Given the description of an element on the screen output the (x, y) to click on. 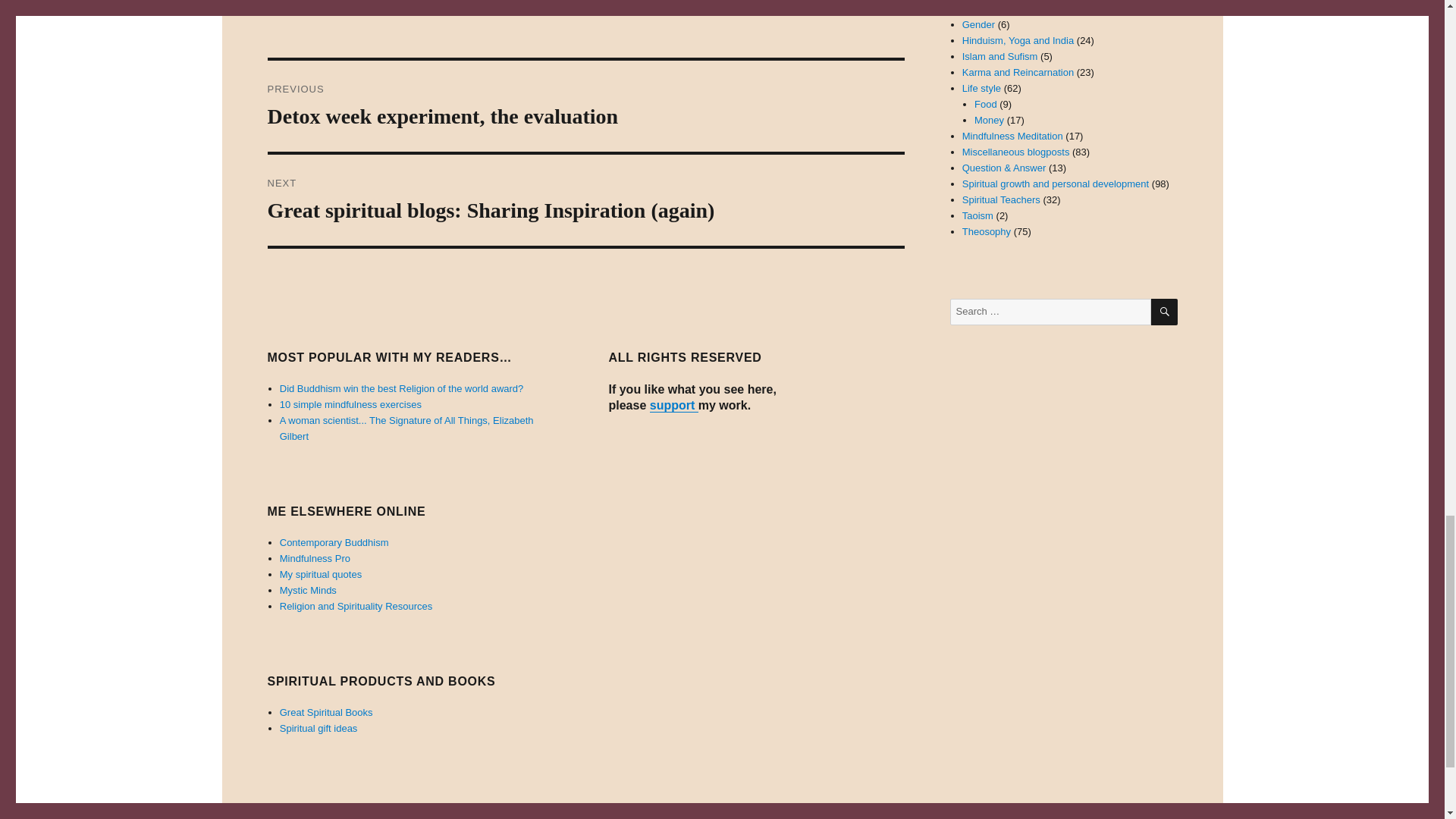
Did Buddhism win the best Religion of the world award? (401, 388)
Contemporary Buddhism (333, 542)
10 simple mindfulness exercises (350, 404)
